Given the description of an element on the screen output the (x, y) to click on. 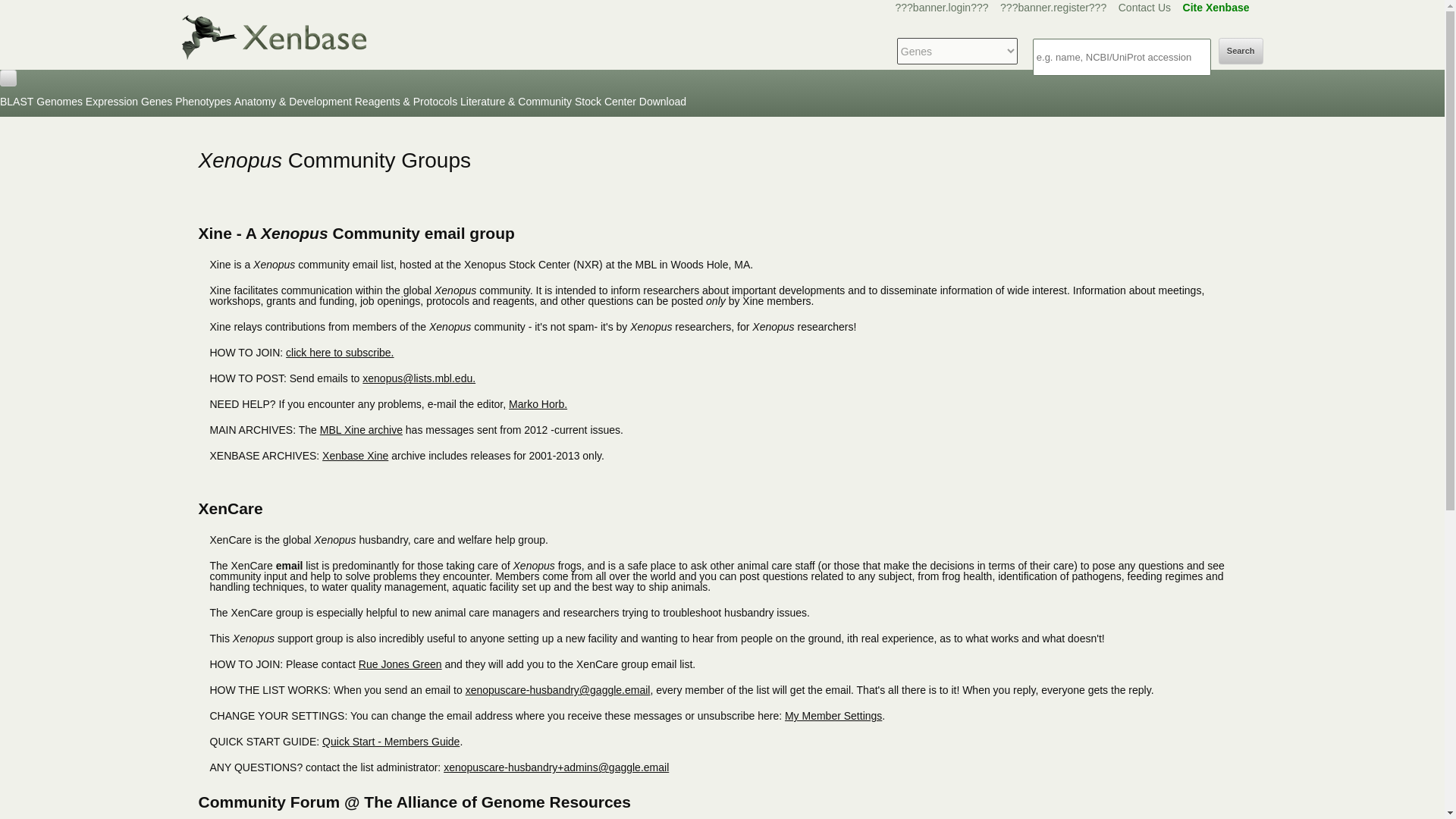
???banner.login??? (941, 7)
Genes (156, 101)
Contact Us (1144, 7)
Search (1240, 50)
Cite Xenbase (1215, 7)
Expression (111, 101)
???banner.register??? (1053, 7)
Genomes (59, 101)
BLAST (16, 101)
